Given the description of an element on the screen output the (x, y) to click on. 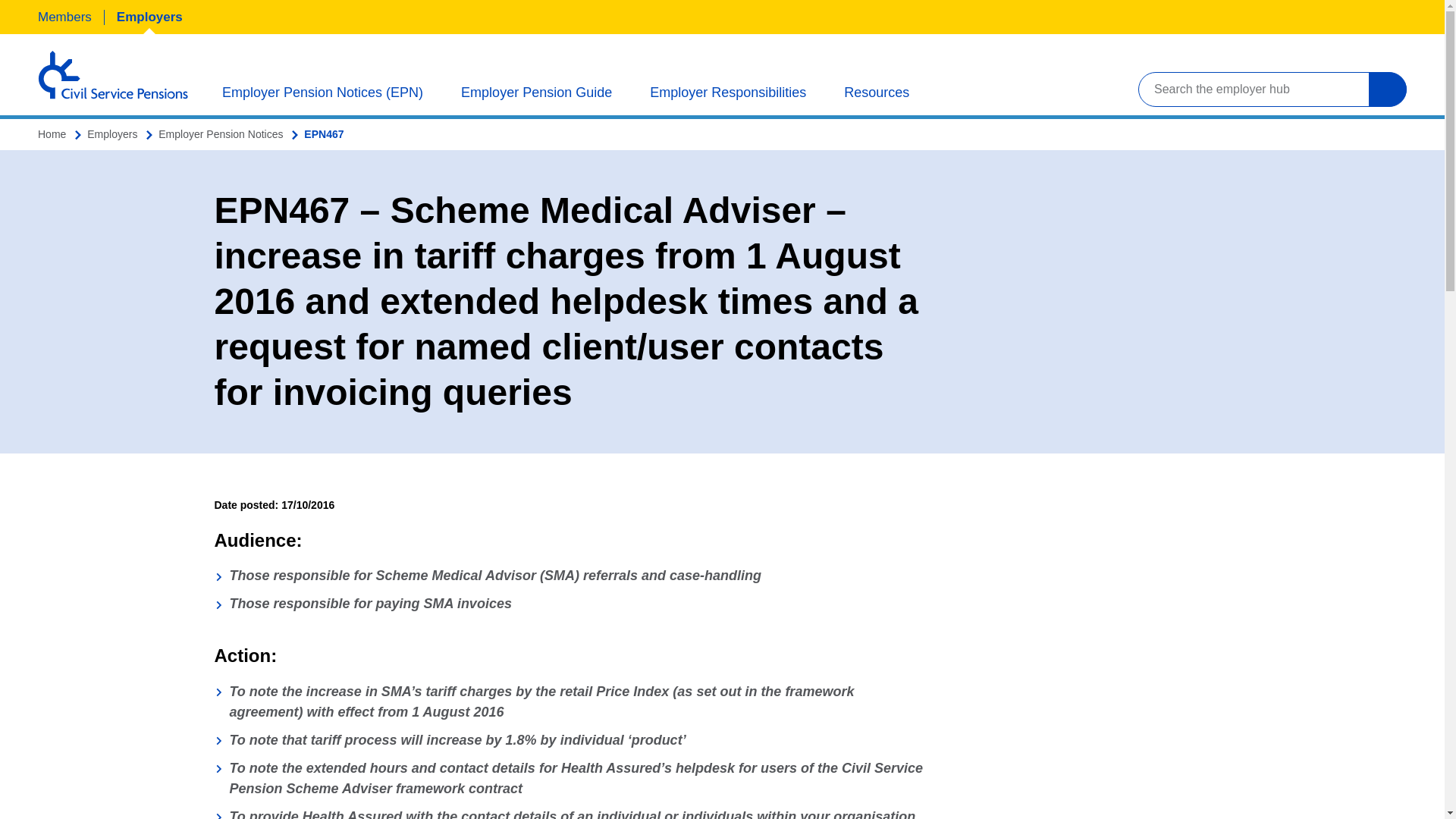
Employer Responsibilities (727, 90)
Employer Pension Guide (536, 90)
Resources (876, 90)
Members (64, 17)
Employers (149, 17)
